Given the description of an element on the screen output the (x, y) to click on. 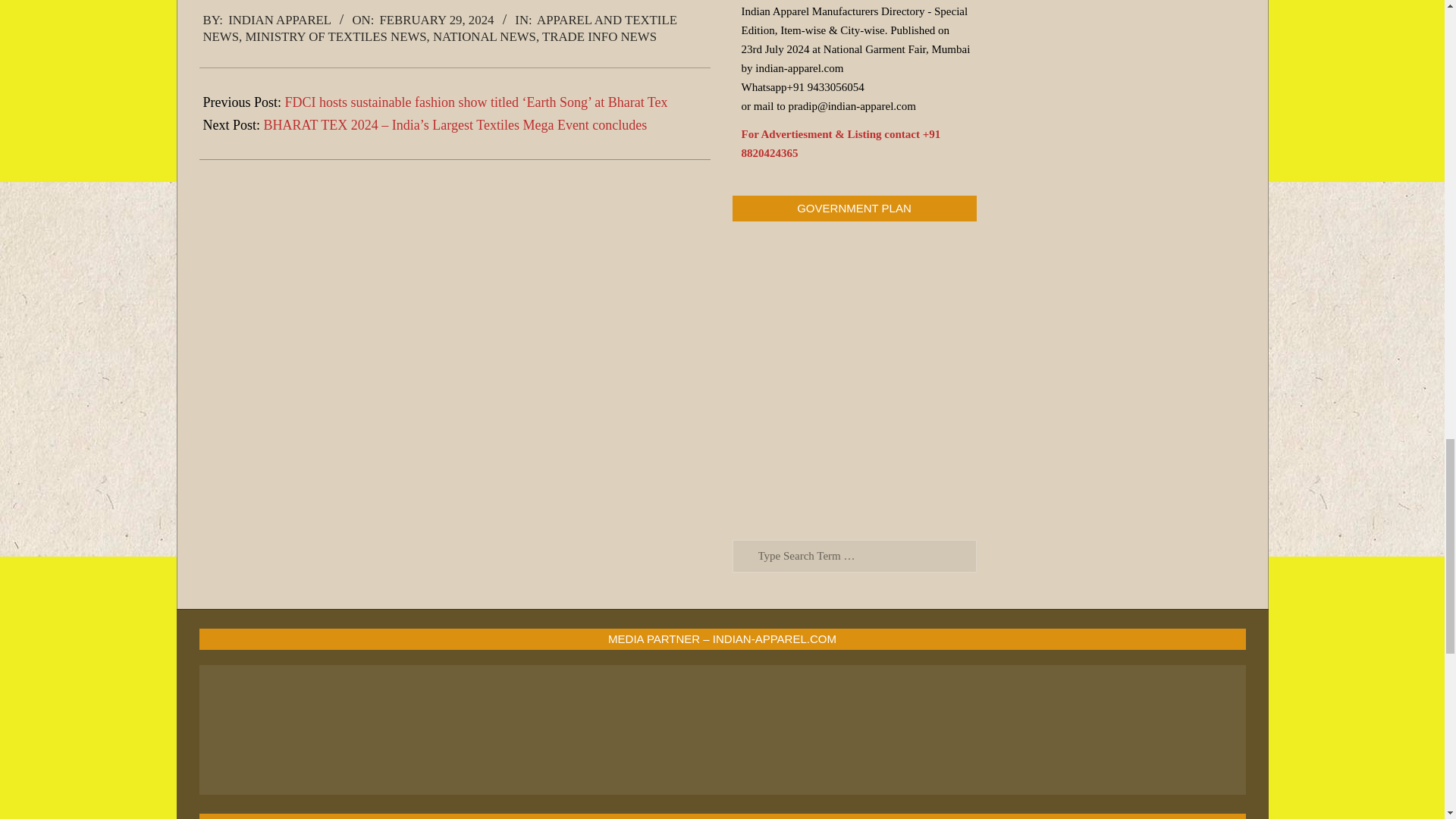
APPAREL AND TEXTILE NEWS (440, 29)
TRADE INFO NEWS (598, 36)
Posts by Indian Apparel (279, 20)
INDIAN APPAREL (279, 20)
MINISTRY OF TEXTILES NEWS (335, 36)
GOVERNMENT PLAN (853, 378)
NATIONAL NEWS (483, 36)
Thursday, February 29, 2024, 7:01 pm (437, 20)
